Given the description of an element on the screen output the (x, y) to click on. 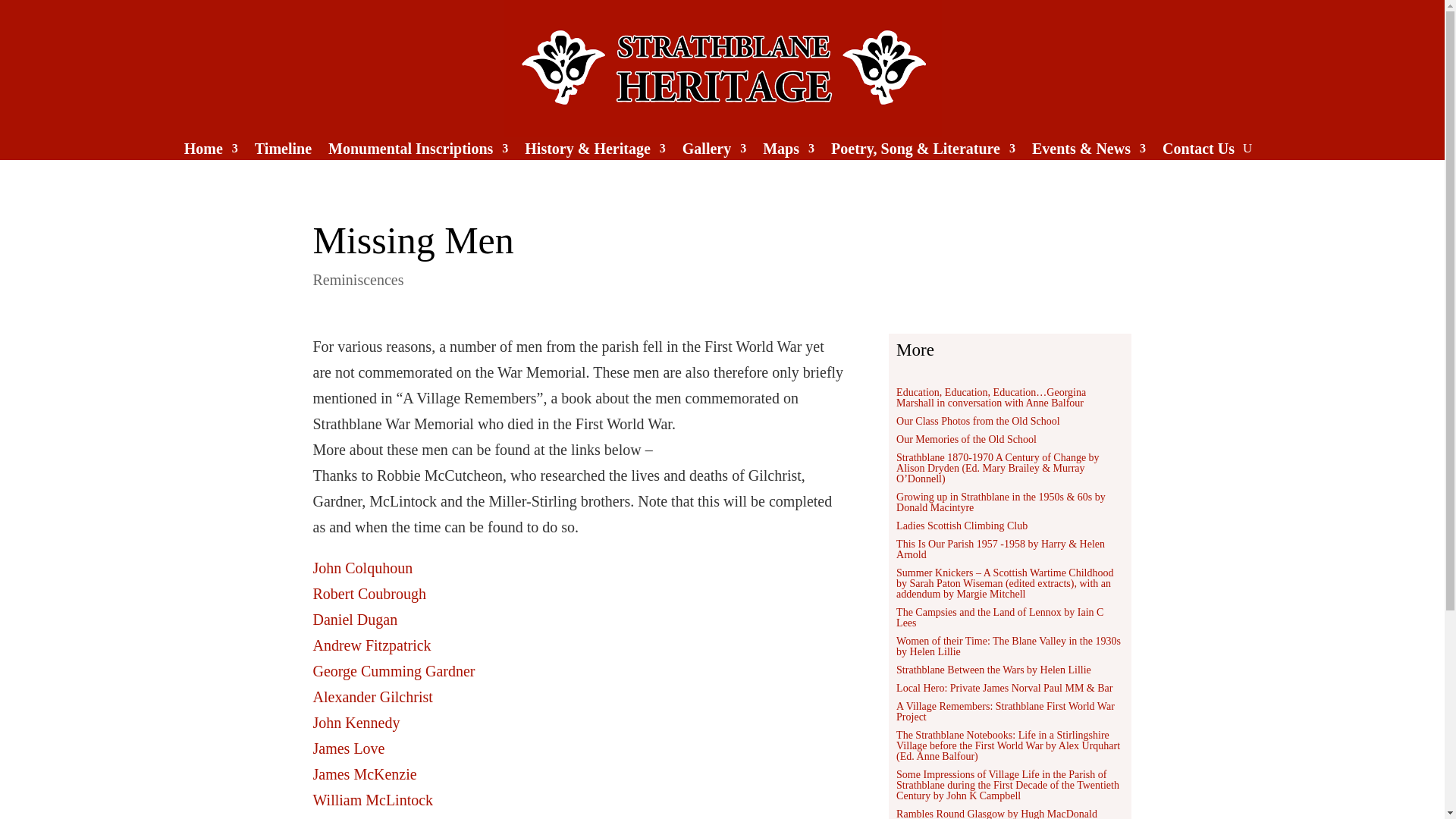
Timeline (282, 151)
Daniel Dugan (355, 619)
Maps (787, 151)
Home (211, 151)
Monumental Inscriptions (418, 151)
logo-v1.2-1000 (722, 68)
Gallery (713, 151)
Reminiscences (358, 279)
John Colquhoun (362, 567)
Contact Us (1197, 151)
